Given the description of an element on the screen output the (x, y) to click on. 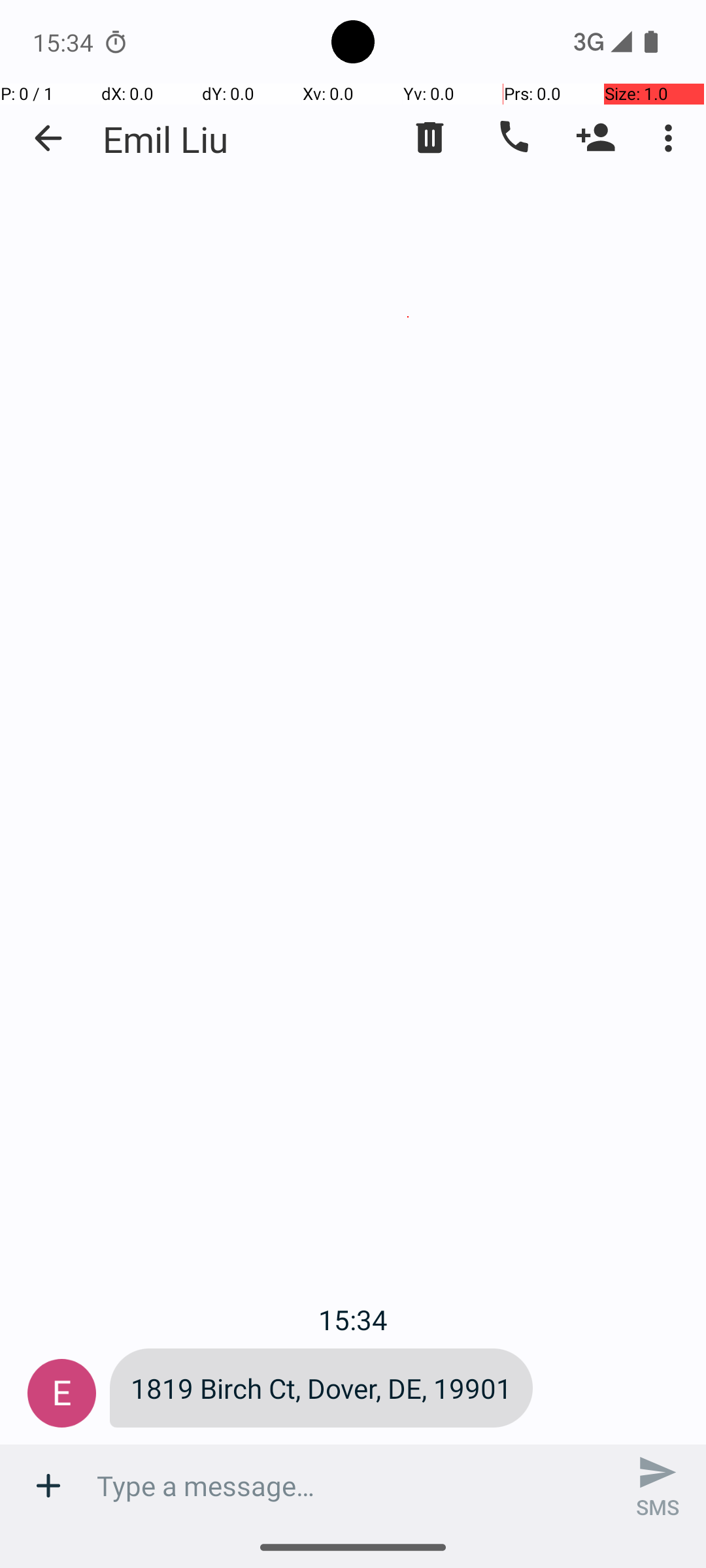
1819 Birch Ct, Dover, DE, 19901 Element type: android.widget.TextView (320, 1387)
